Given the description of an element on the screen output the (x, y) to click on. 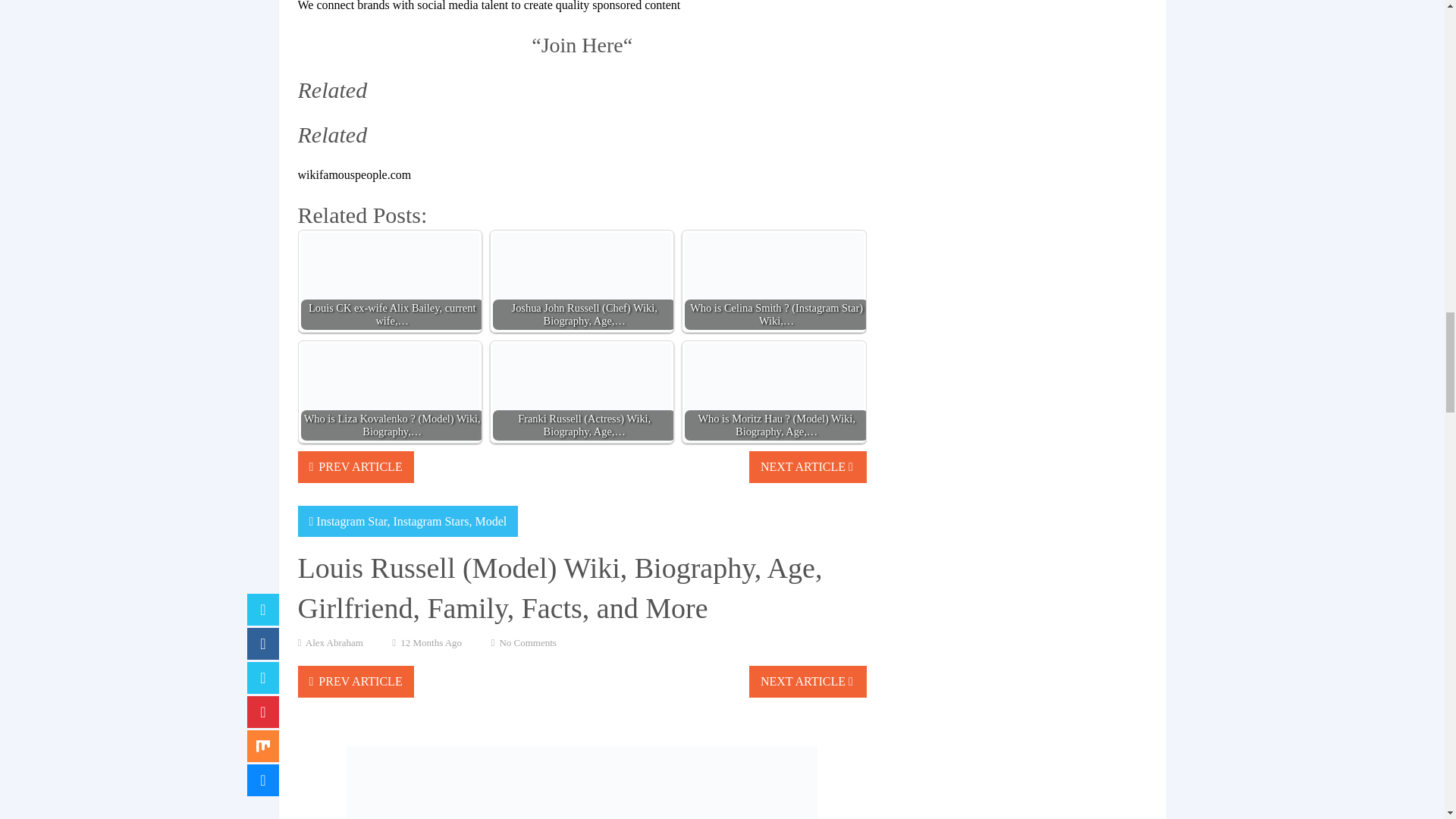
View all posts in Instagram Stars (430, 521)
View all posts in Instagram Star (351, 521)
PREV ARTICLE (355, 467)
